Given the description of an element on the screen output the (x, y) to click on. 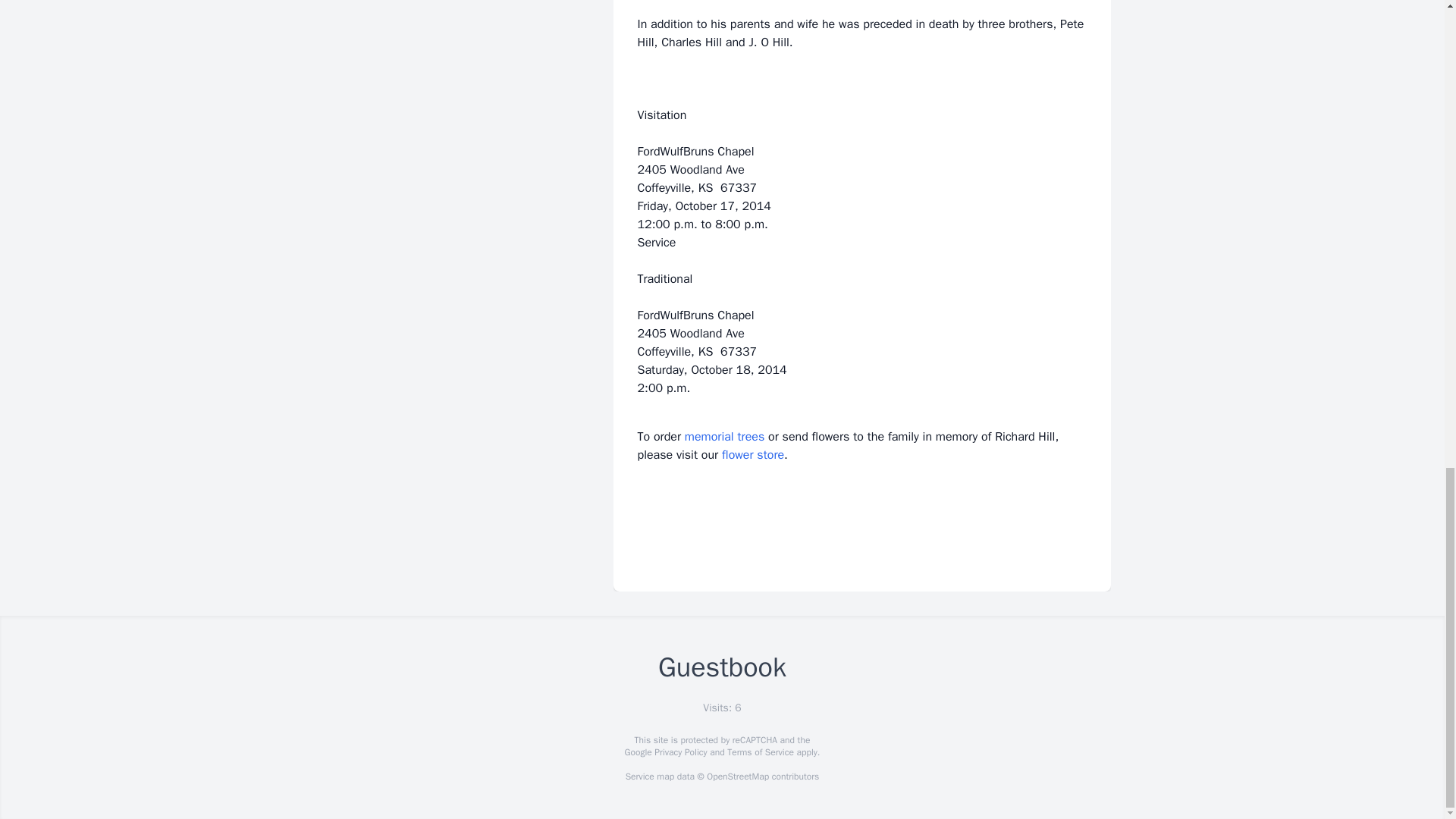
flower store (753, 454)
Privacy Policy (679, 752)
Terms of Service (759, 752)
OpenStreetMap (737, 776)
memorial trees (724, 436)
